Given the description of an element on the screen output the (x, y) to click on. 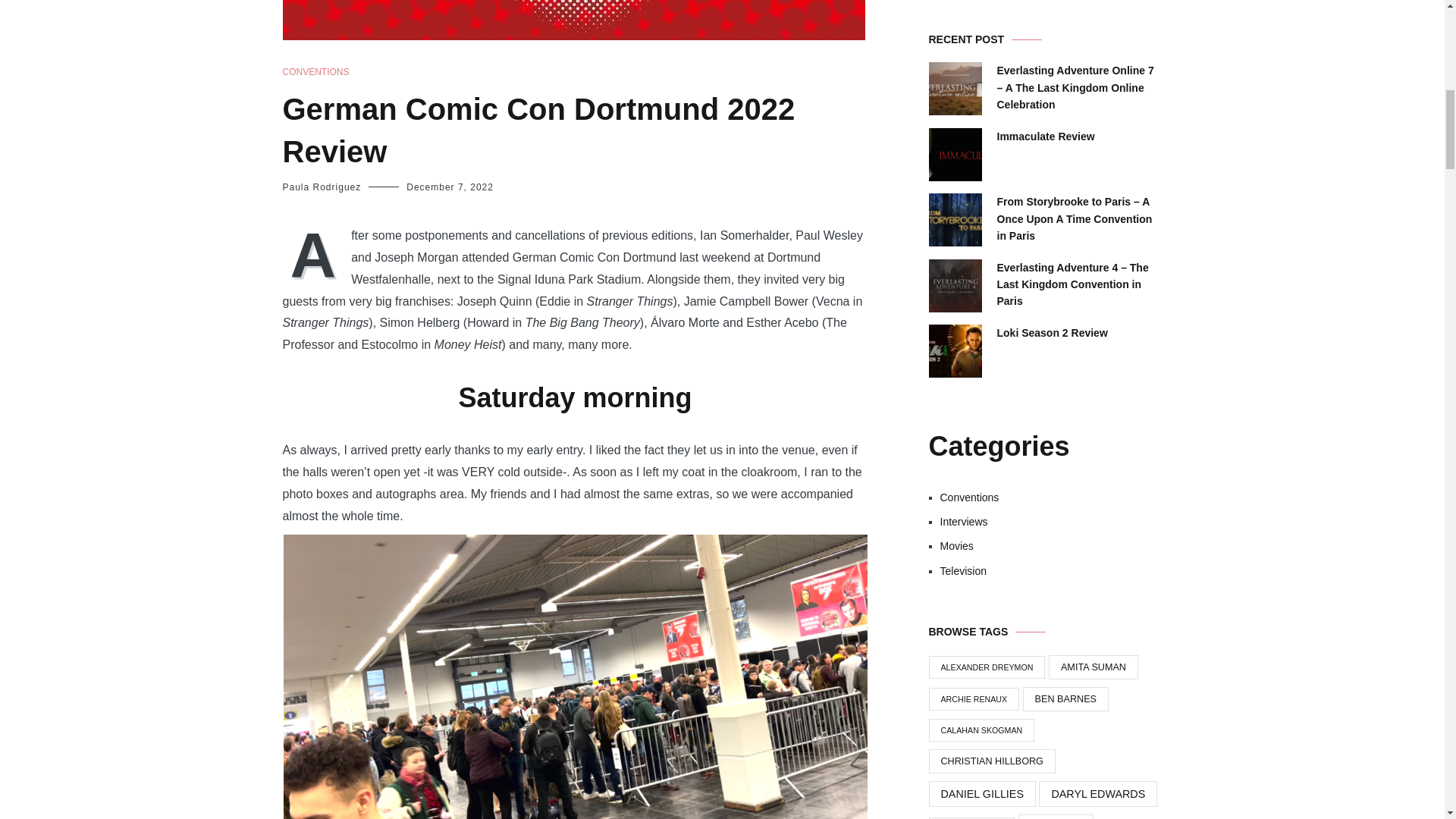
December 7, 2022 (449, 186)
Paula Rodriguez (321, 186)
CONVENTIONS (315, 72)
A (316, 253)
